Given the description of an element on the screen output the (x, y) to click on. 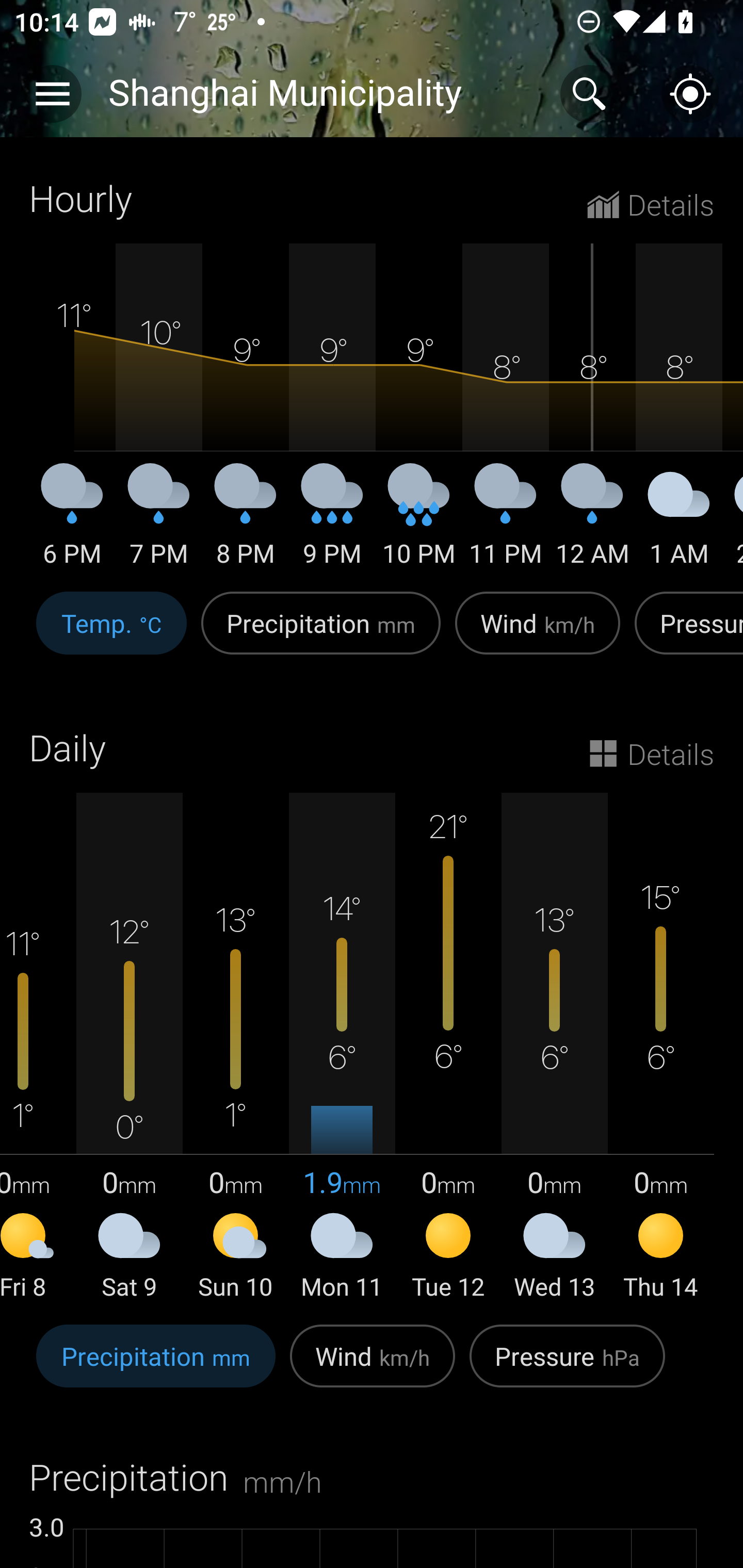
6 PM (71, 521)
7 PM (158, 521)
8 PM (245, 521)
9 PM (332, 521)
10 PM (418, 521)
11 PM (505, 521)
12 AM (592, 521)
1 AM (679, 521)
Temp. °C (110, 633)
Precipitation mm (320, 633)
Wind km/h (537, 633)
Pressure (685, 633)
11° 1° 0 mm Fri 8 (38, 1048)
12° 0° 0 mm Sat 9 (129, 1048)
13° 1° 0 mm Sun 10 (235, 1048)
14° 6° 1.9 mm Mon 11 (342, 1048)
21° 6° 0 mm Tue 12 (448, 1048)
13° 6° 0 mm Wed 13 (554, 1048)
15° 6° 0 mm Thu 14 (660, 1048)
Precipitation mm (155, 1366)
Wind km/h (372, 1366)
Pressure hPa (567, 1366)
